Given the description of an element on the screen output the (x, y) to click on. 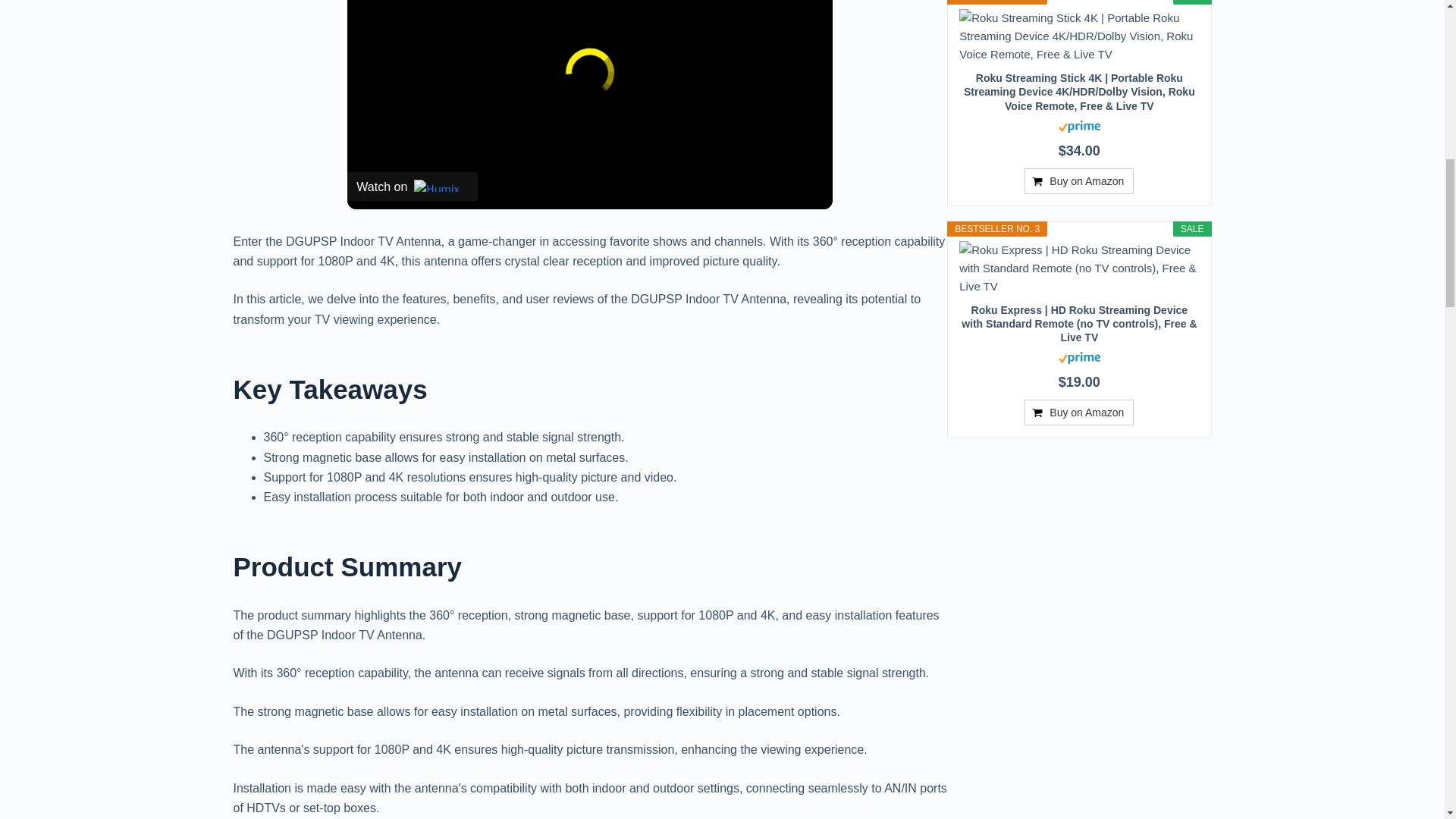
Buy on Amazon (1079, 181)
Watch on (412, 185)
Amazon Prime (1079, 124)
Amazon Prime (1079, 356)
Buy on Amazon (1079, 412)
